Given the description of an element on the screen output the (x, y) to click on. 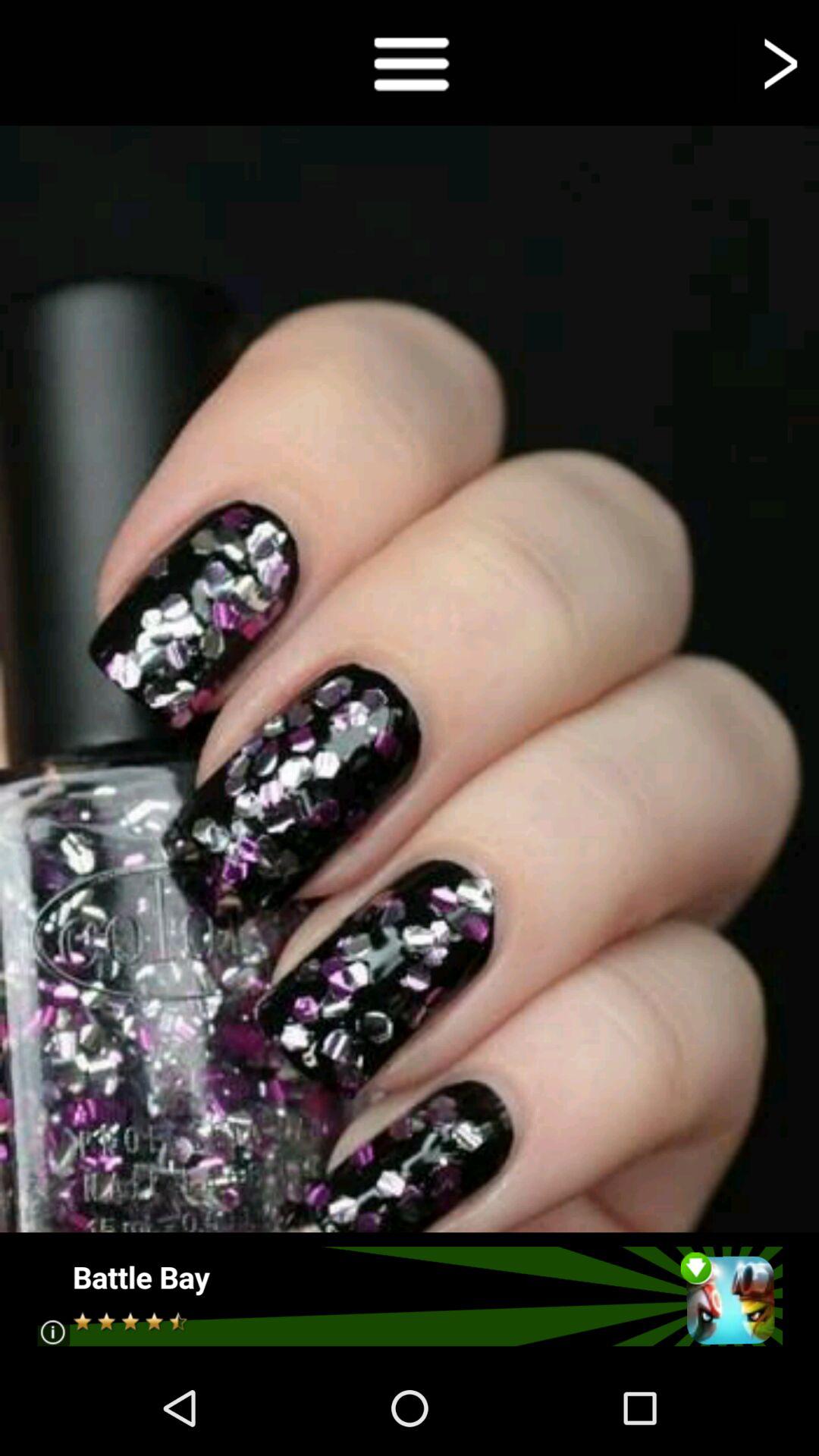
advertisement (408, 1296)
